Given the description of an element on the screen output the (x, y) to click on. 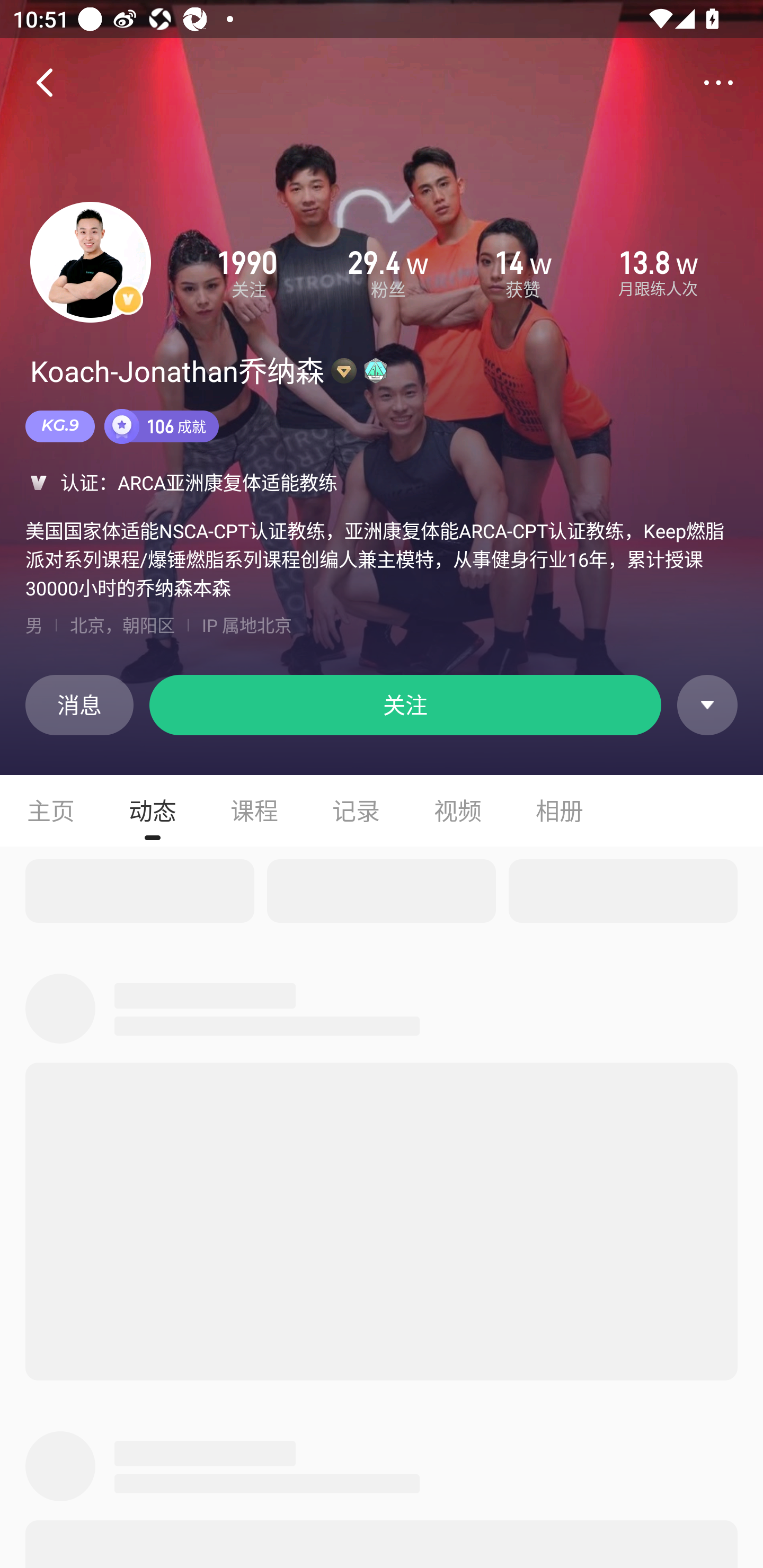
106 成就 (161, 426)
认证： ARCA亚洲康复体适能教练 (381, 481)
消息 (79, 704)
关注 (405, 704)
主页 (50, 810)
动态 (152, 810)
课程 (254, 810)
记录 (355, 810)
视频 (457, 810)
相册 (559, 810)
